Given the description of an element on the screen output the (x, y) to click on. 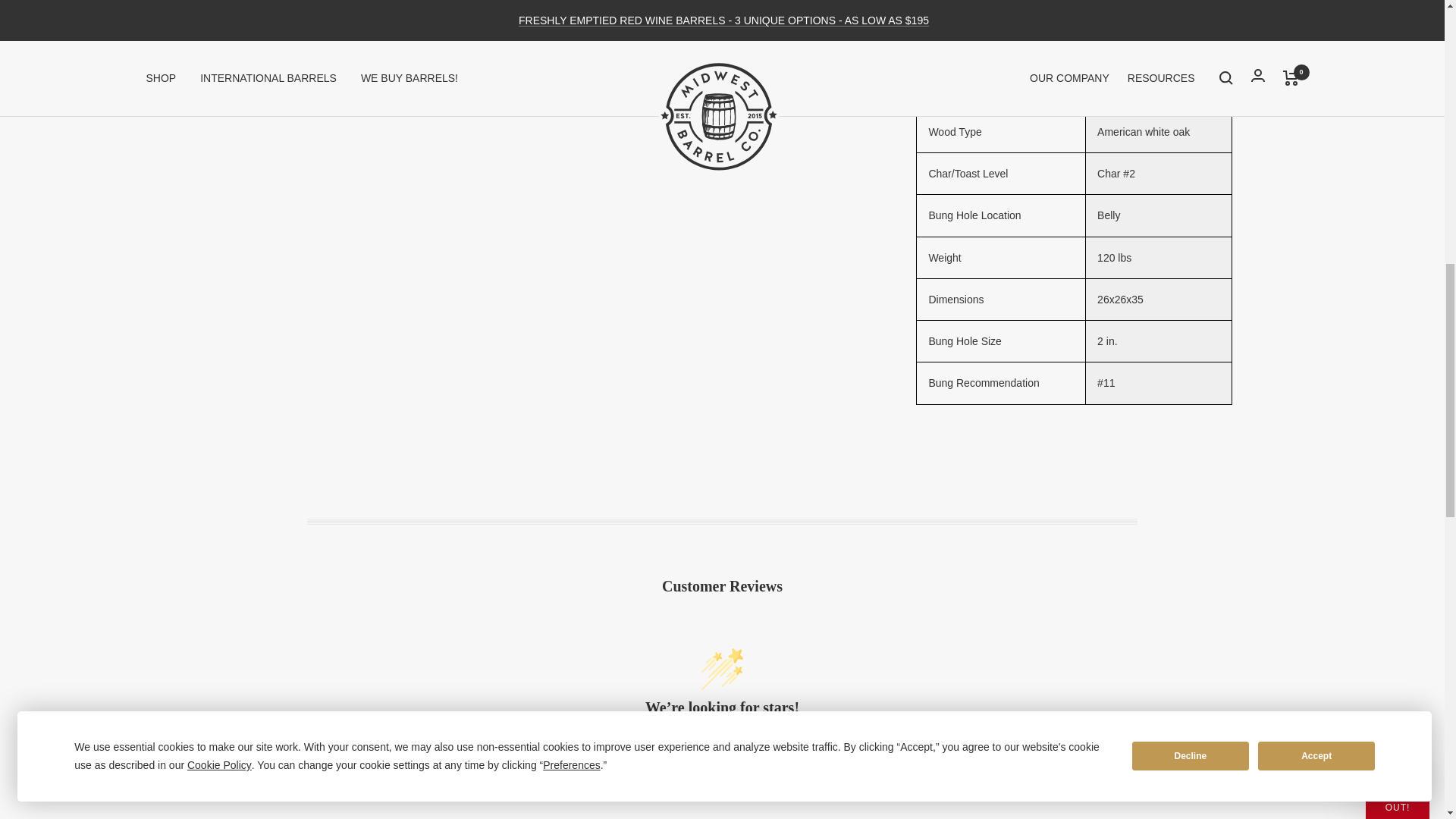
Be the first to write a review! (722, 781)
